Given the description of an element on the screen output the (x, y) to click on. 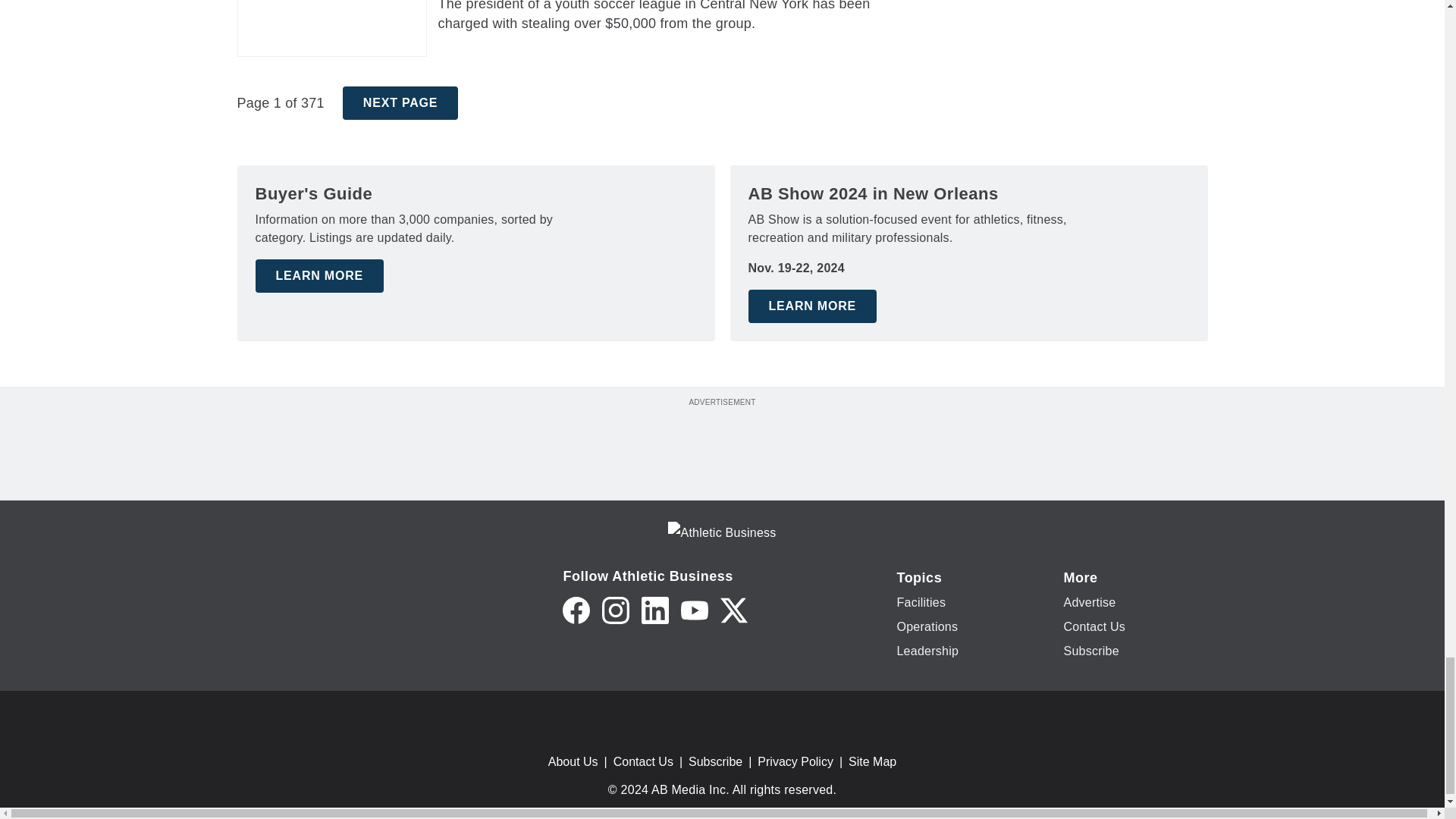
Instagram icon (615, 610)
Twitter X icon (734, 610)
Facebook icon (575, 610)
LinkedIn icon (655, 610)
YouTube icon (694, 610)
